Given the description of an element on the screen output the (x, y) to click on. 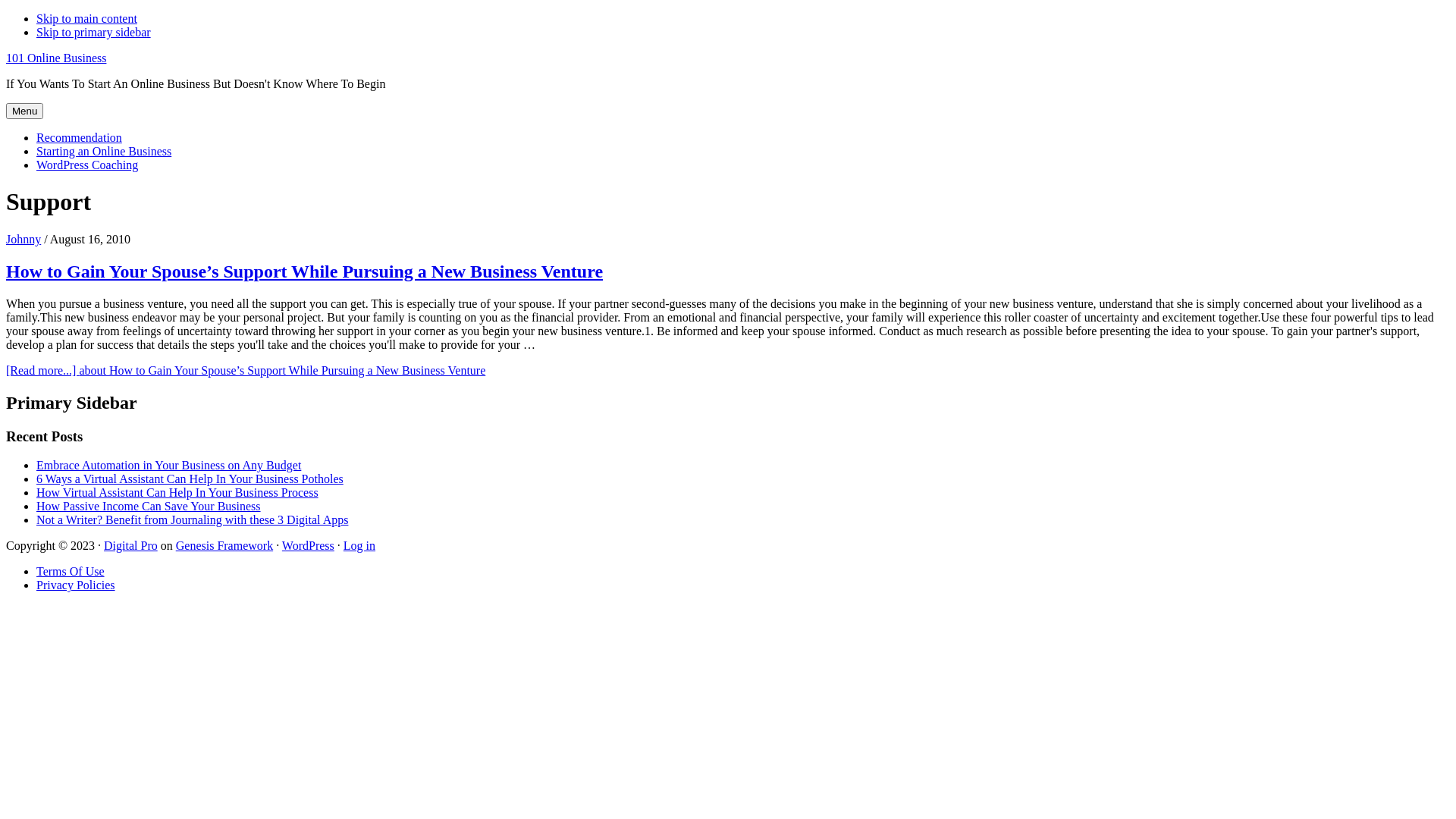
WordPress Element type: text (308, 545)
Recommendation Element type: text (79, 137)
Genesis Framework Element type: text (224, 545)
101 Online Business Element type: text (56, 57)
How Passive Income Can Save Your Business Element type: text (148, 505)
How Virtual Assistant Can Help In Your Business Process Element type: text (177, 492)
Menu Element type: text (24, 111)
Skip to primary sidebar Element type: text (93, 31)
Privacy Policies Element type: text (75, 584)
Digital Pro Element type: text (130, 545)
Johnny Element type: text (23, 238)
WordPress Coaching Element type: text (87, 164)
Starting an Online Business Element type: text (103, 150)
Embrace Automation in Your Business on Any Budget Element type: text (168, 464)
Skip to main content Element type: text (86, 18)
Terms Of Use Element type: text (70, 570)
Log in Element type: text (359, 545)
